Given the description of an element on the screen output the (x, y) to click on. 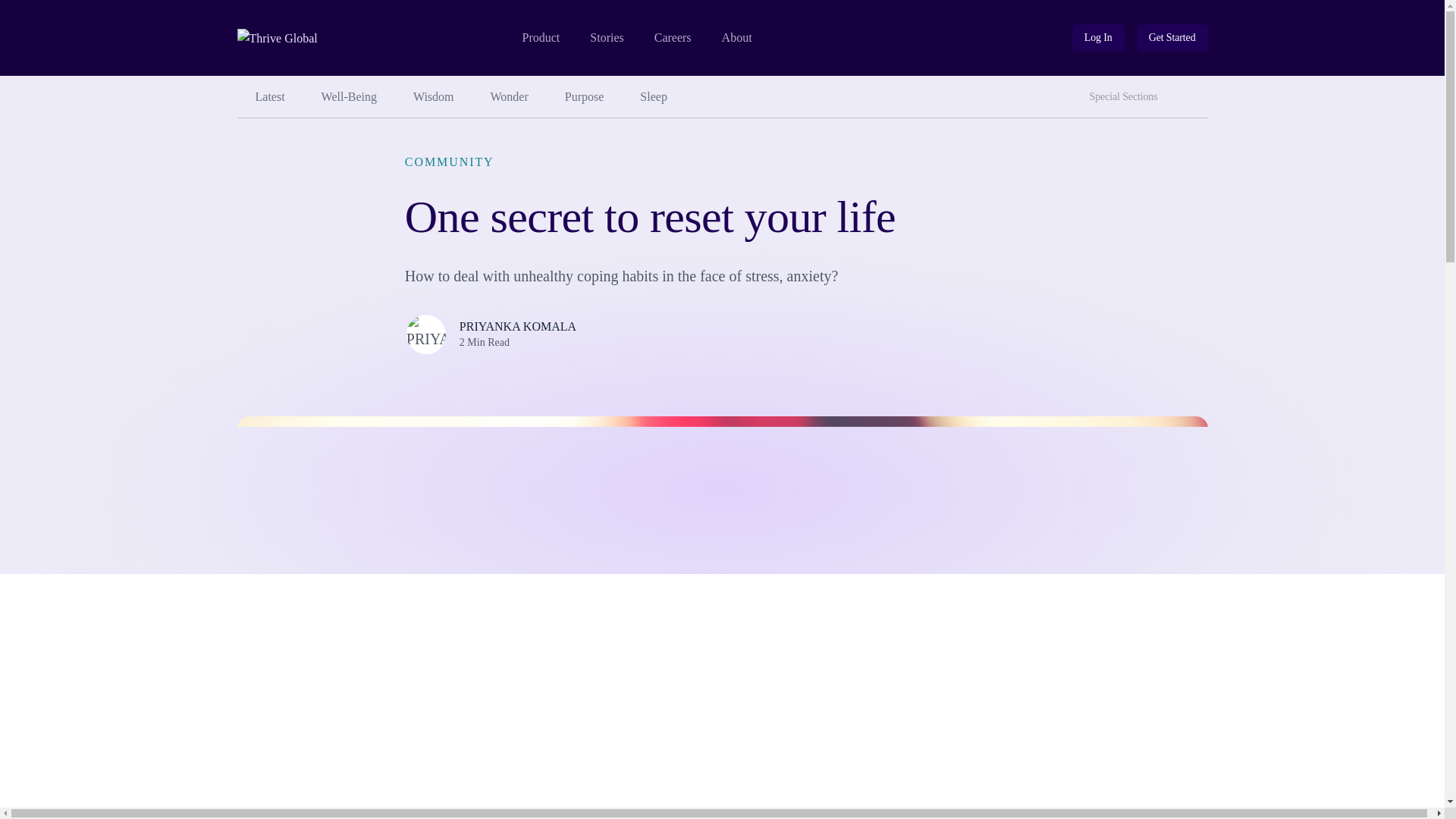
Well-Being (348, 96)
Wisdom (432, 96)
Log In (1097, 37)
btn-info (1097, 37)
About (737, 37)
Get Started (1172, 37)
Special Sections (1126, 97)
btn-primary (1172, 37)
Careers (672, 37)
Latest (268, 96)
Sleep (653, 96)
Stories (606, 37)
Product (540, 37)
Purpose (585, 96)
Wonder (509, 96)
